Given the description of an element on the screen output the (x, y) to click on. 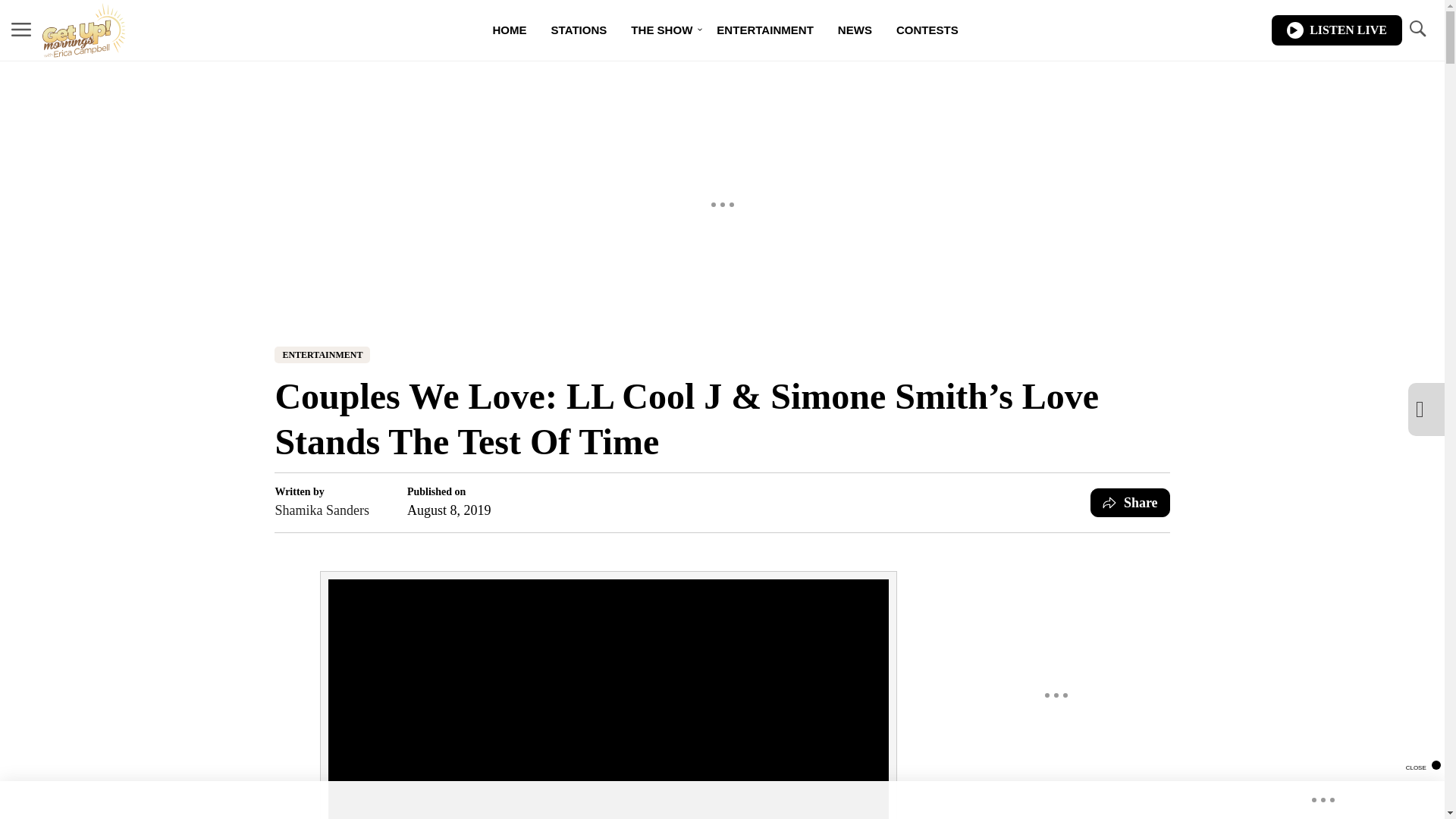
TOGGLE SEARCH (1417, 28)
CONTESTS (927, 30)
ENTERTAINMENT (322, 354)
TOGGLE SEARCH (1417, 30)
MENU (20, 29)
THE SHOW (661, 30)
STATIONS (579, 30)
ENTERTAINMENT (764, 30)
HOME (509, 30)
NEWS (854, 30)
